Given the description of an element on the screen output the (x, y) to click on. 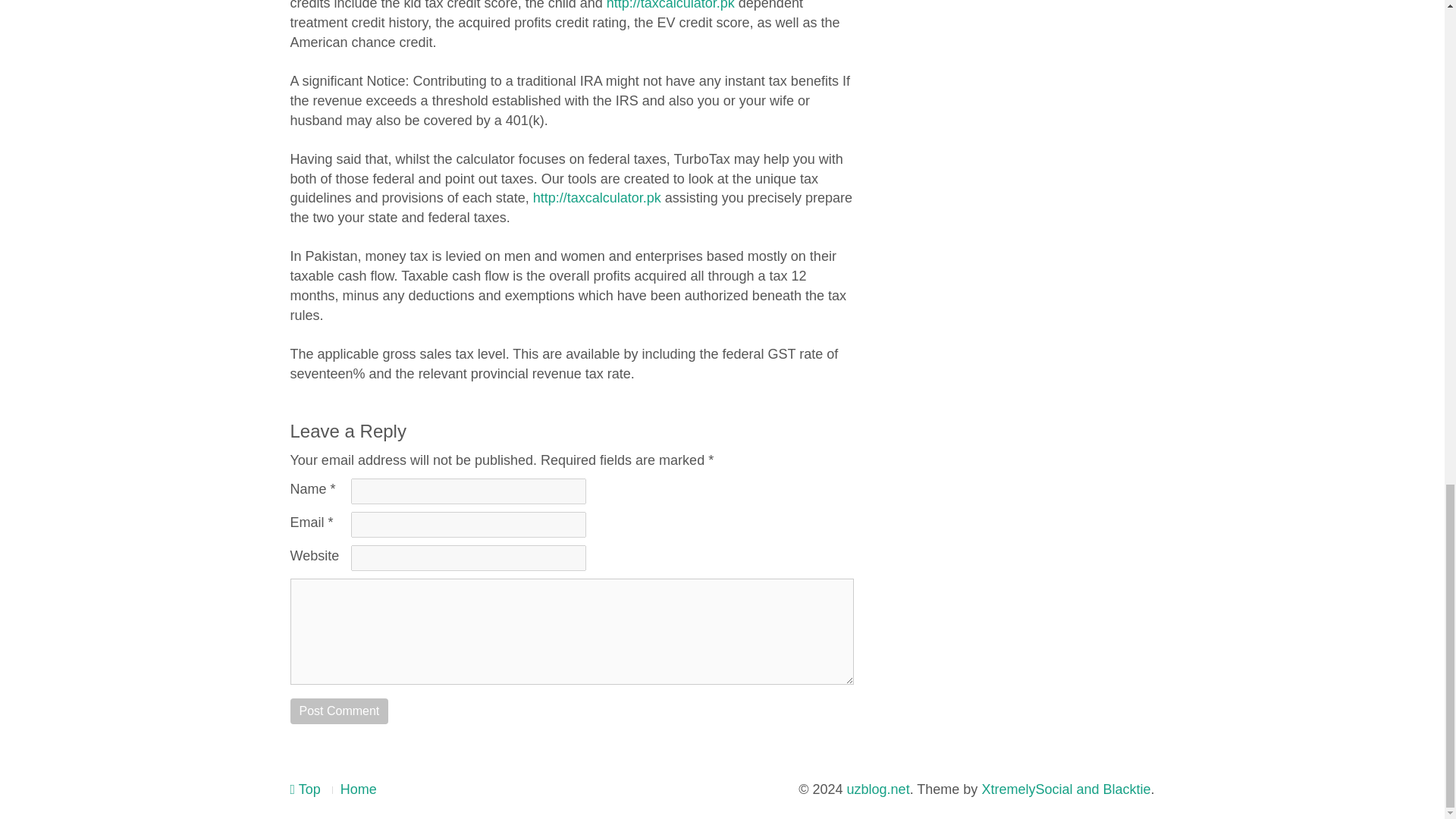
Post Comment (338, 710)
uzblog.net (878, 789)
Post Comment (338, 710)
Home (358, 789)
Top (304, 789)
Home (358, 789)
Top (304, 789)
XtremelySocial and Blacktie (1065, 789)
Back to top of page (304, 789)
